Given the description of an element on the screen output the (x, y) to click on. 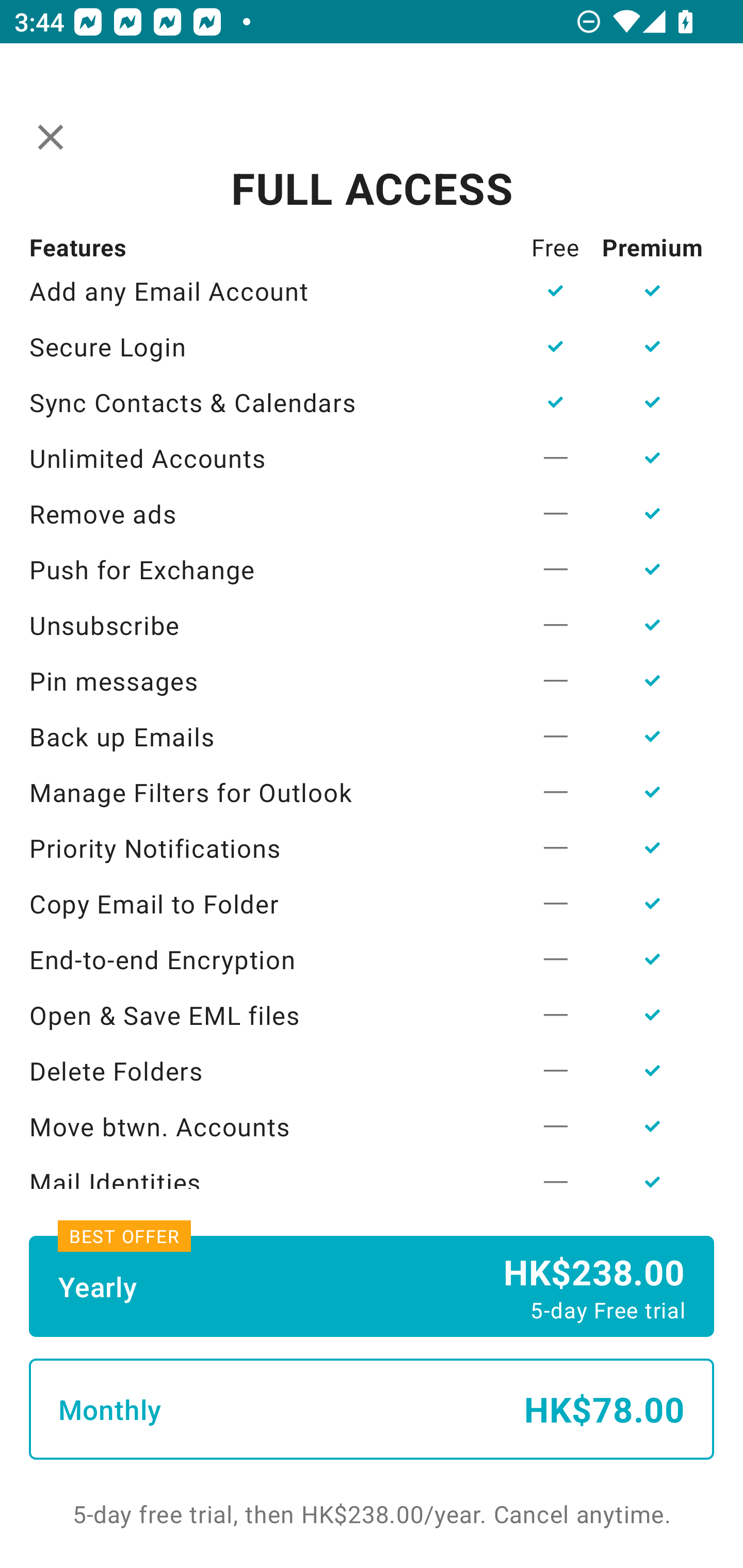
Yearly HK$238.00 5-day Free trial (371, 1286)
Monthly HK$78.00 (371, 1408)
